Given the description of an element on the screen output the (x, y) to click on. 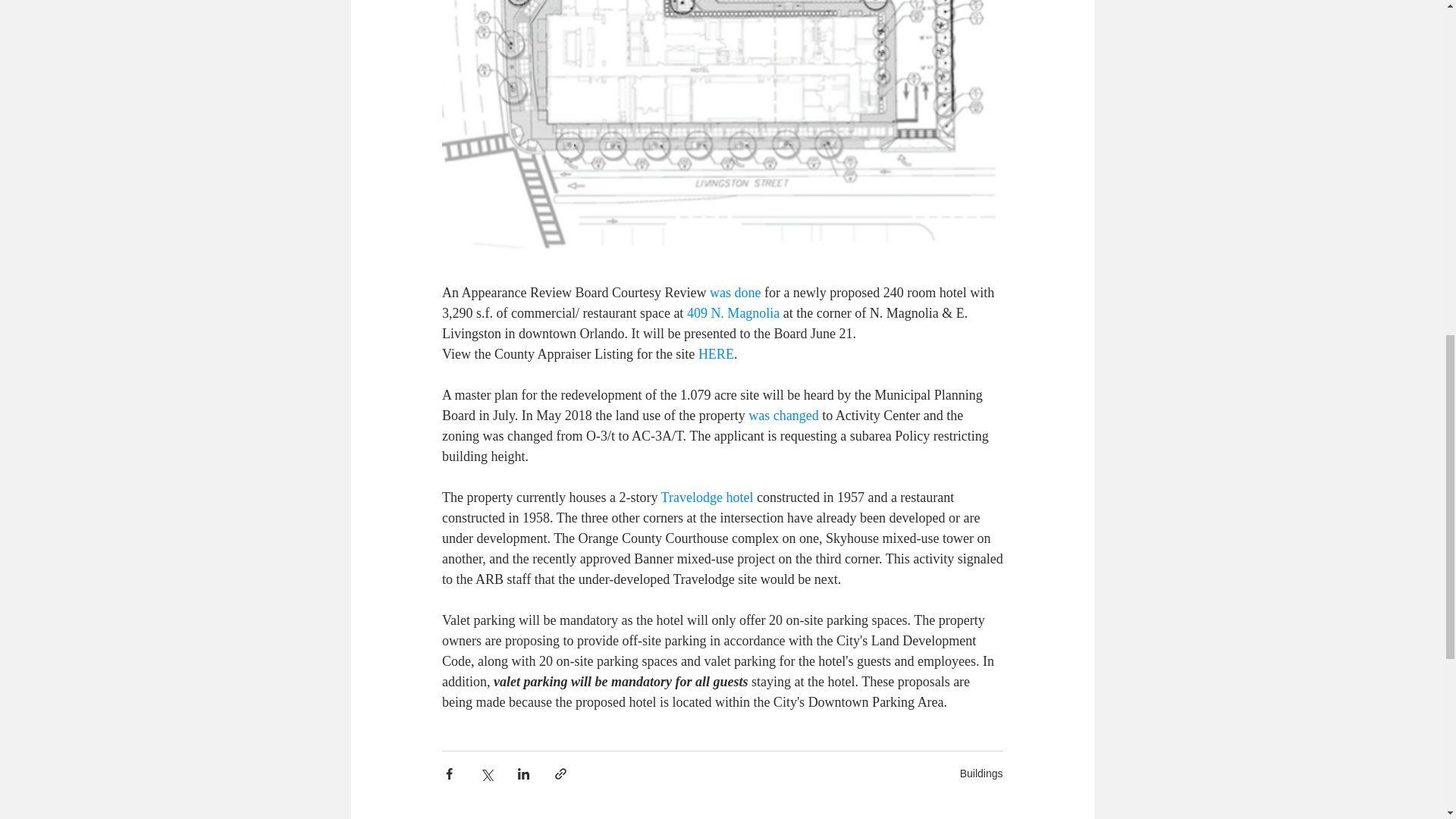
409 N. Magnolia (731, 313)
was done (734, 292)
